Given the description of an element on the screen output the (x, y) to click on. 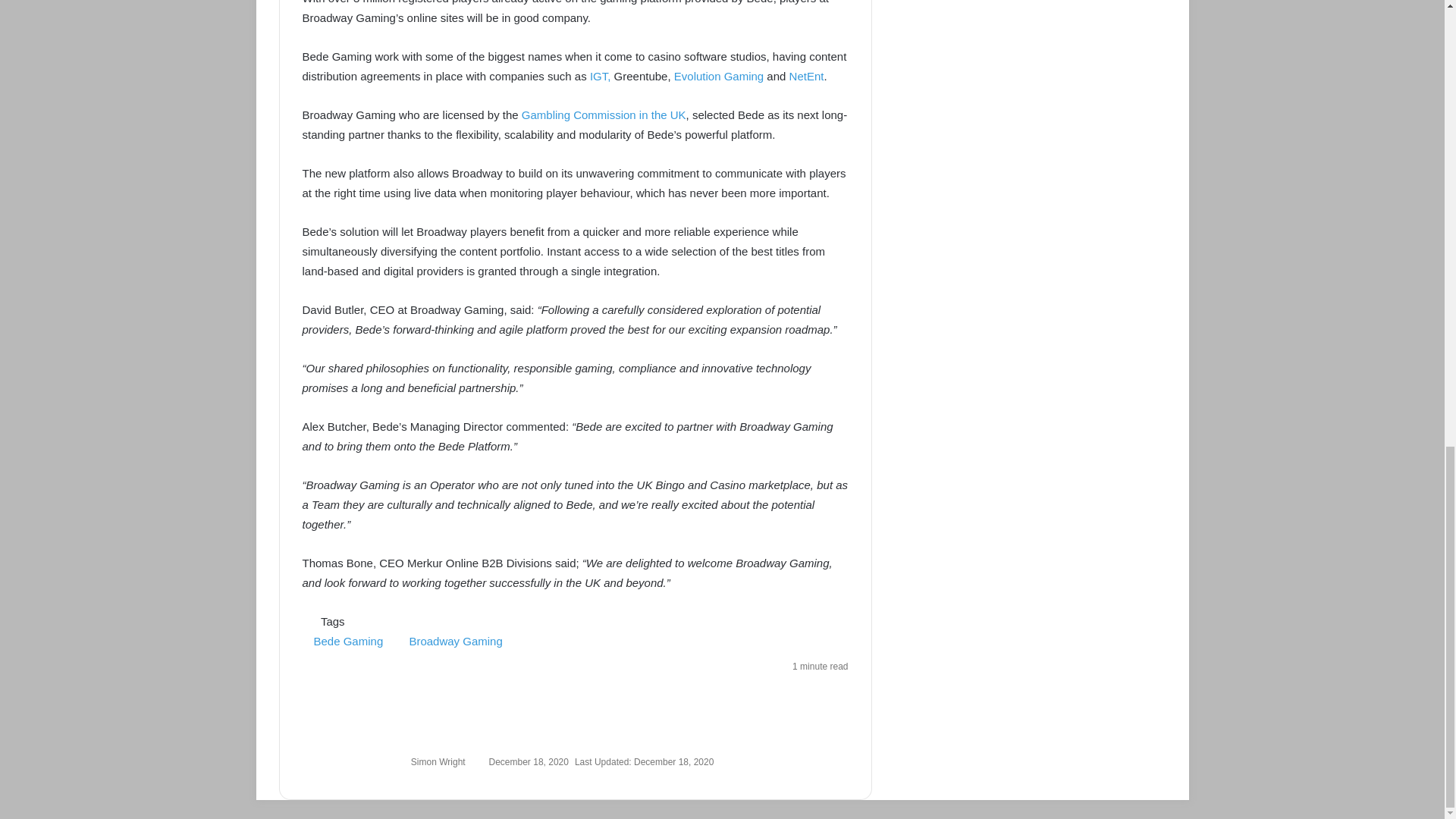
Evolution Gaming (718, 75)
Simon Wright (437, 761)
IGT, (600, 75)
Bede Gaming (347, 640)
Simon Wright (437, 761)
NetEnt (806, 75)
Broadway Gaming (455, 640)
Gambling Commission in the UK (603, 114)
